Given the description of an element on the screen output the (x, y) to click on. 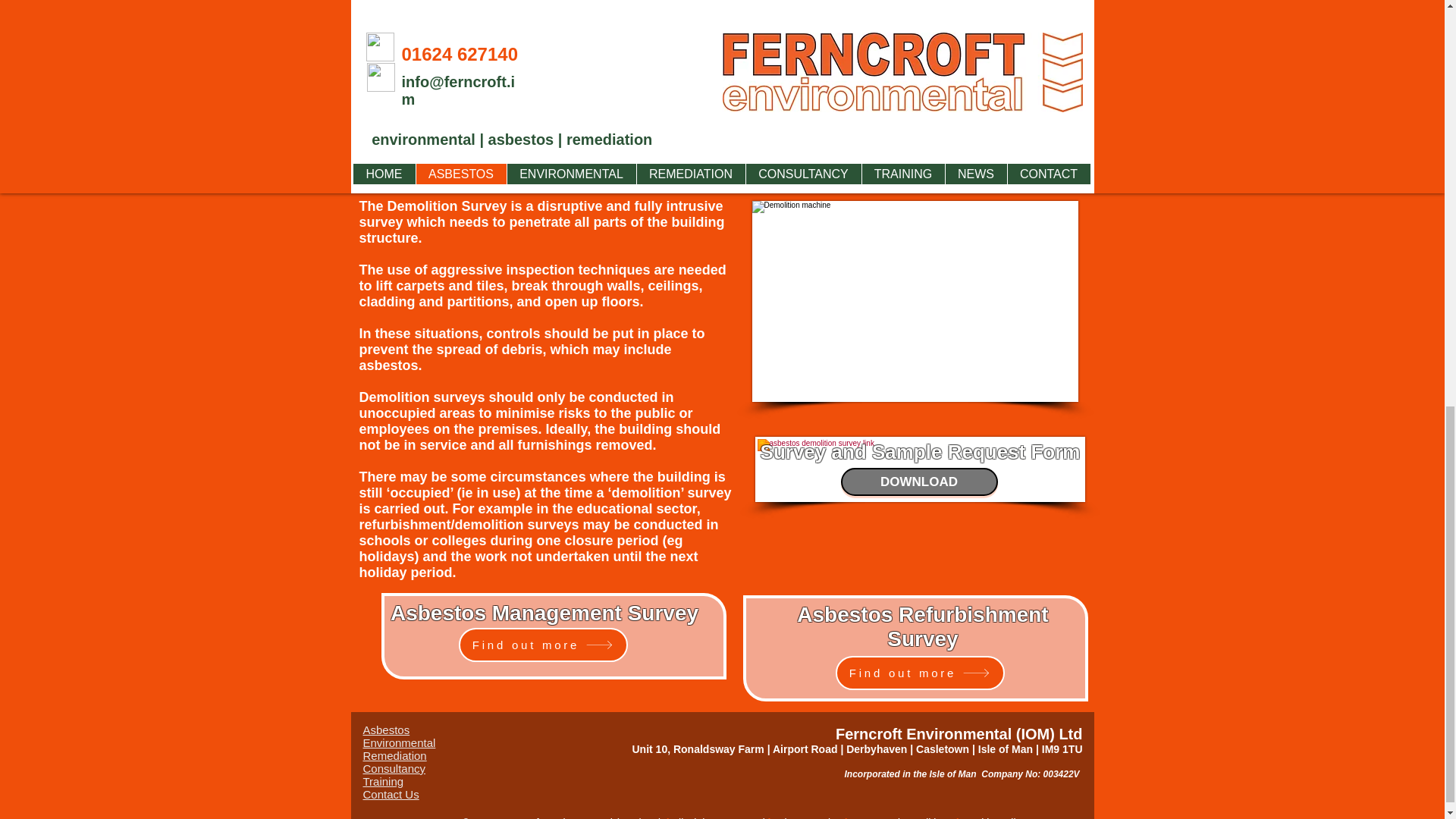
Find out more (919, 673)
DOWNLOAD (918, 481)
Environmental (398, 742)
Contact Us (390, 793)
Consultancy (393, 768)
Training (382, 780)
Find out more (542, 644)
Asbestos (385, 729)
Remediation (394, 755)
